Given the description of an element on the screen output the (x, y) to click on. 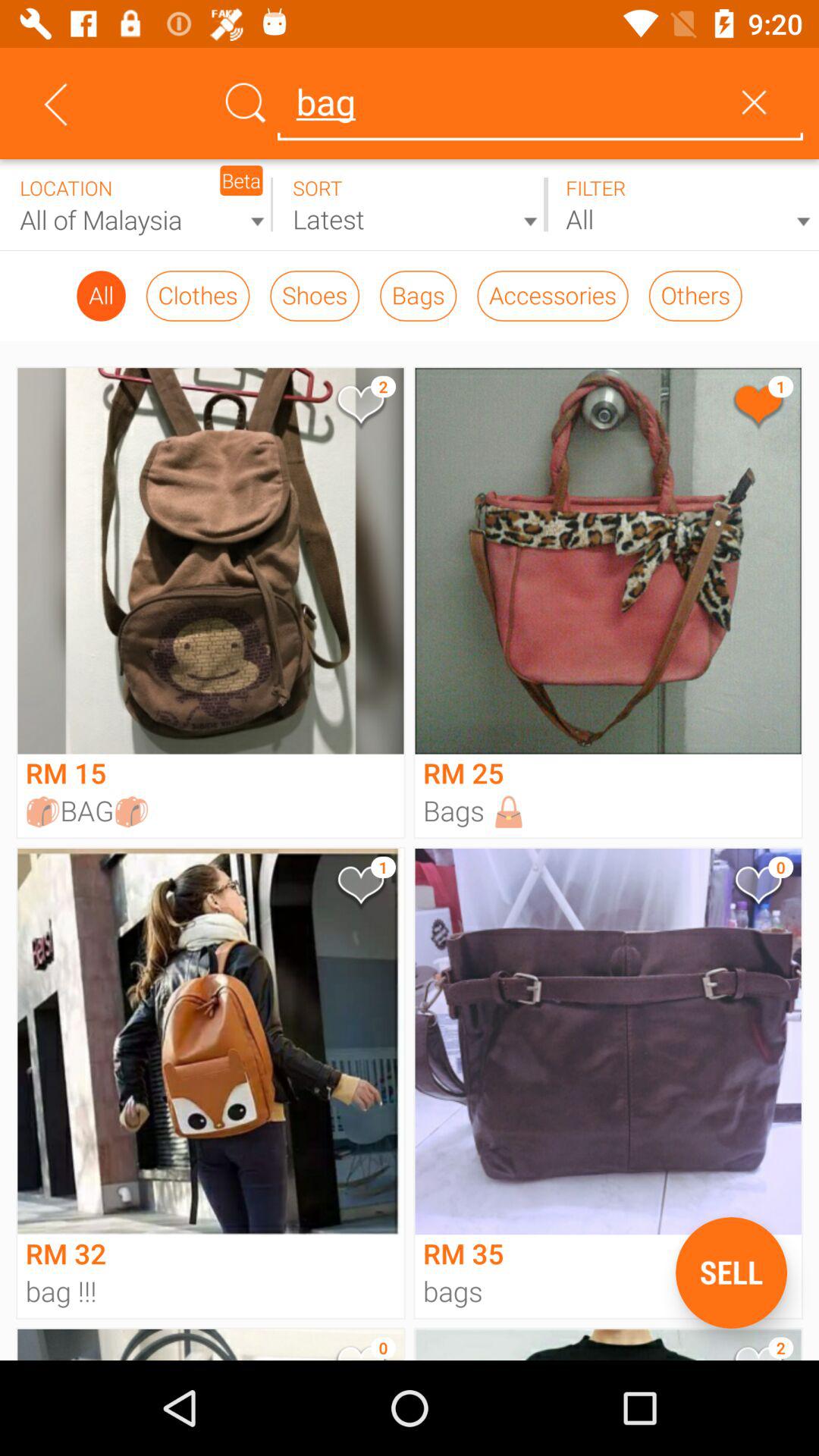
filter button (682, 204)
